Given the description of an element on the screen output the (x, y) to click on. 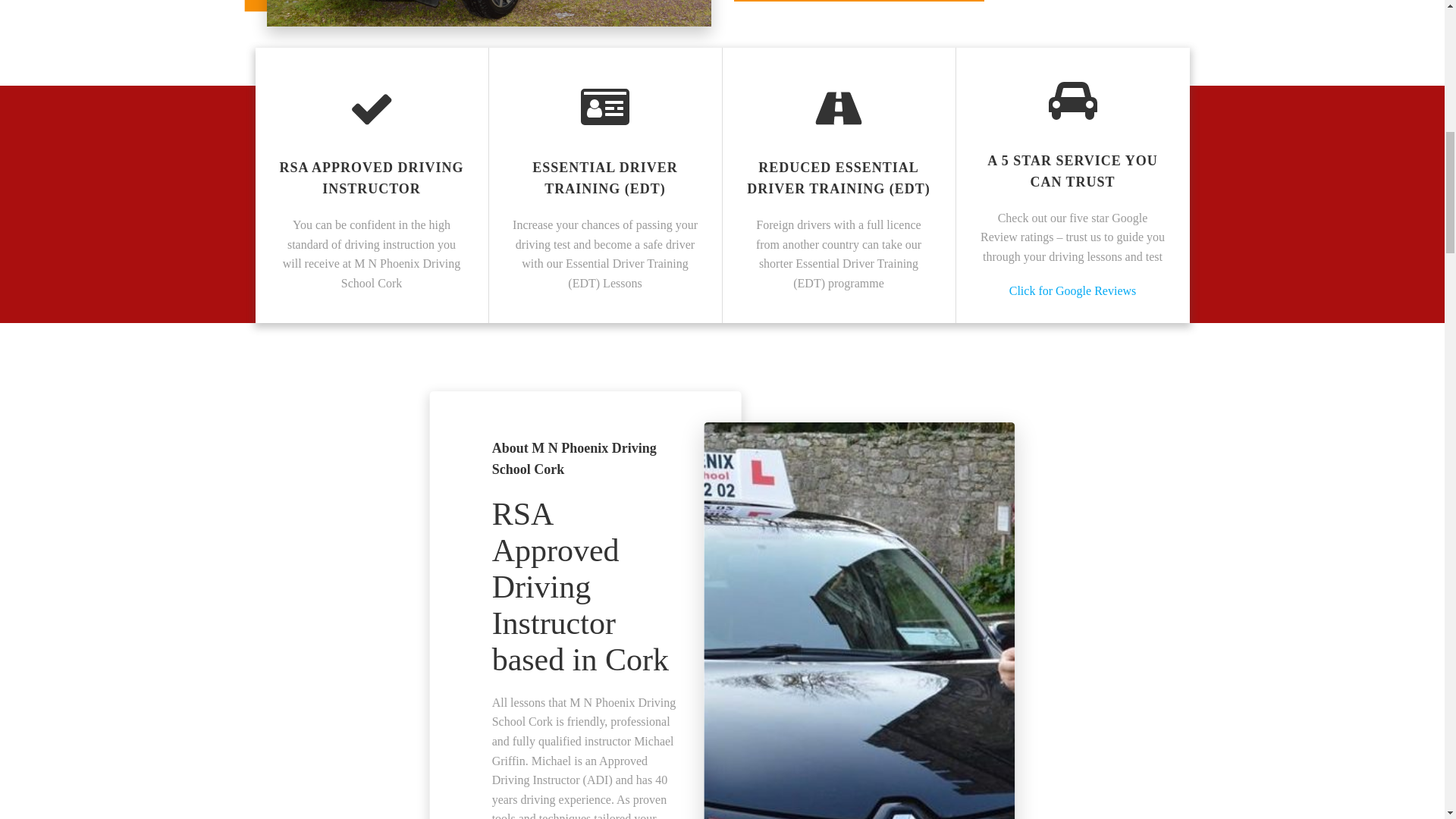
Click for Google Reviews (1073, 290)
